Given the description of an element on the screen output the (x, y) to click on. 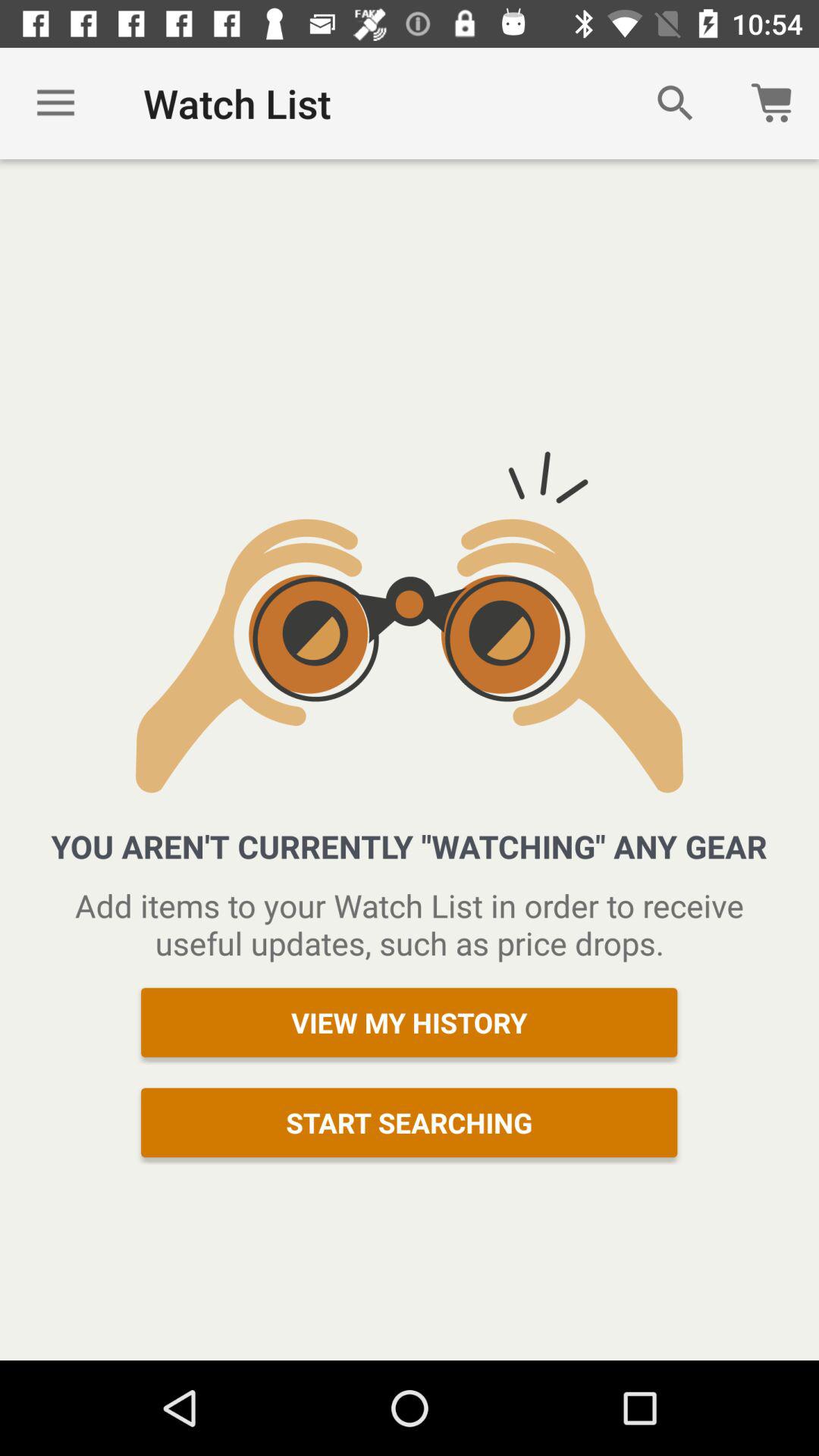
select icon to the right of the watch list item (675, 103)
